Given the description of an element on the screen output the (x, y) to click on. 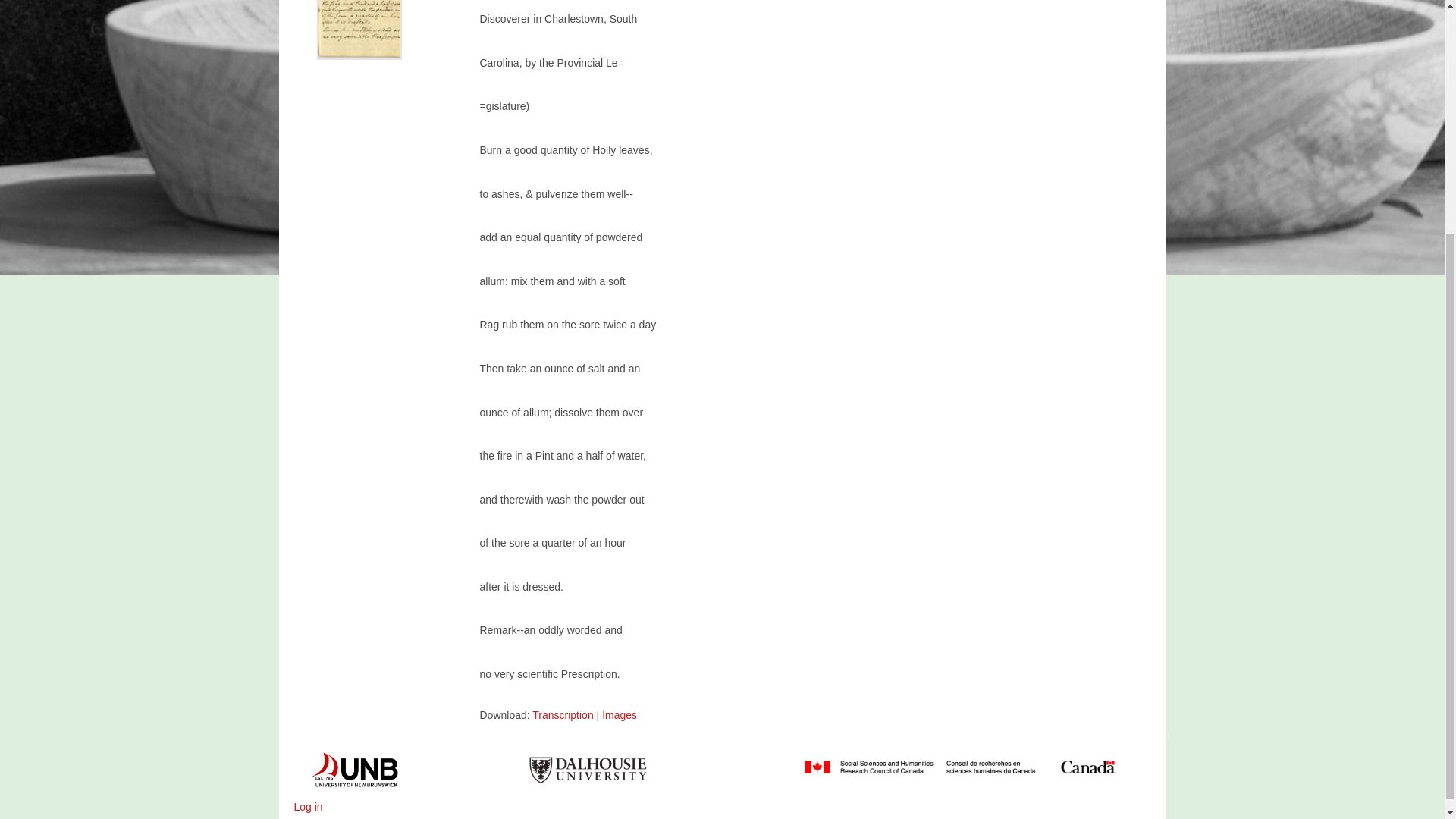
Transcription (563, 715)
Images (619, 715)
Log in (308, 806)
